Given the description of an element on the screen output the (x, y) to click on. 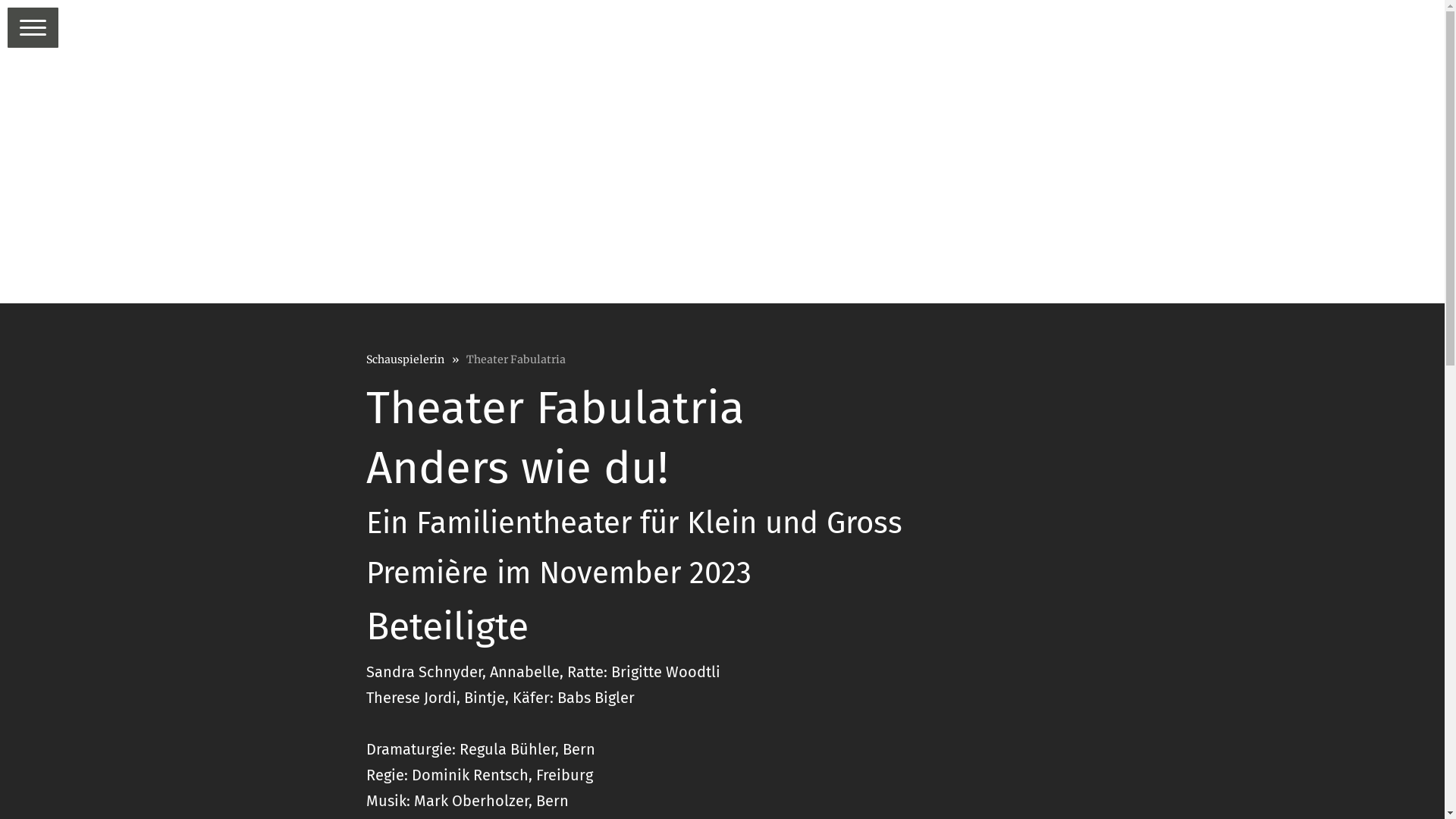
Schauspielerin Element type: text (415, 359)
Brigitte Woodtli Element type: text (665, 671)
Theater Fabulatria Element type: text (522, 359)
